Given the description of an element on the screen output the (x, y) to click on. 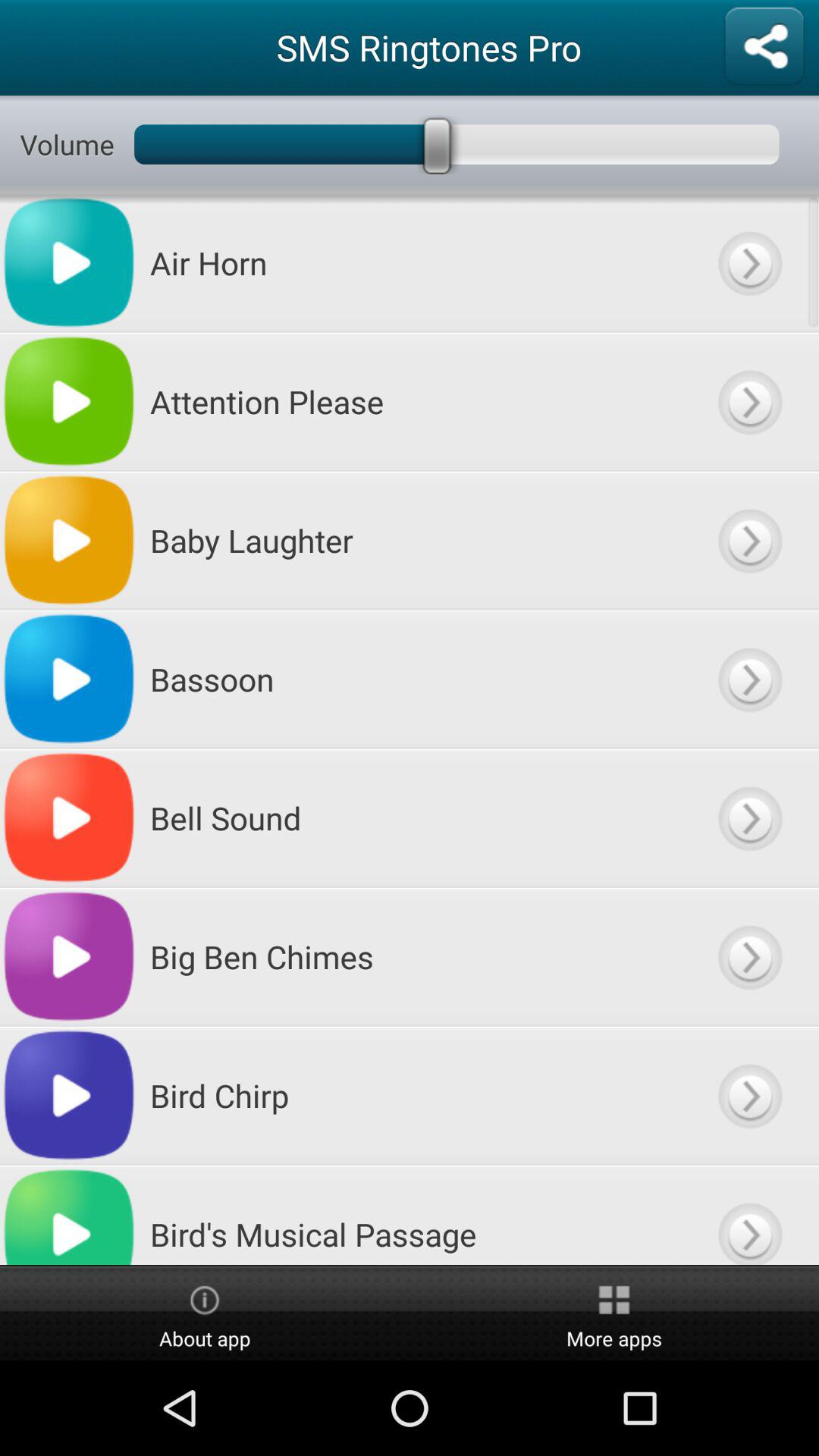
go to ptturn (749, 818)
